Given the description of an element on the screen output the (x, y) to click on. 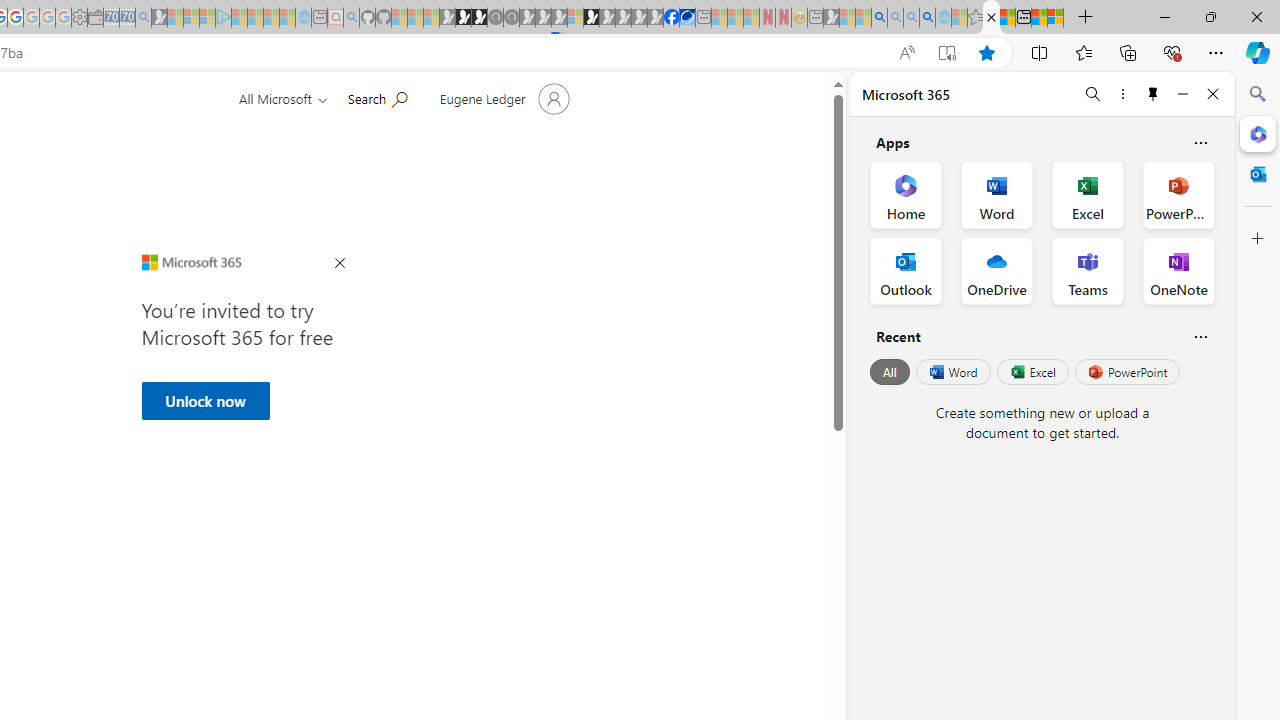
Microsoft Start - Sleeping (271, 17)
